Given the description of an element on the screen output the (x, y) to click on. 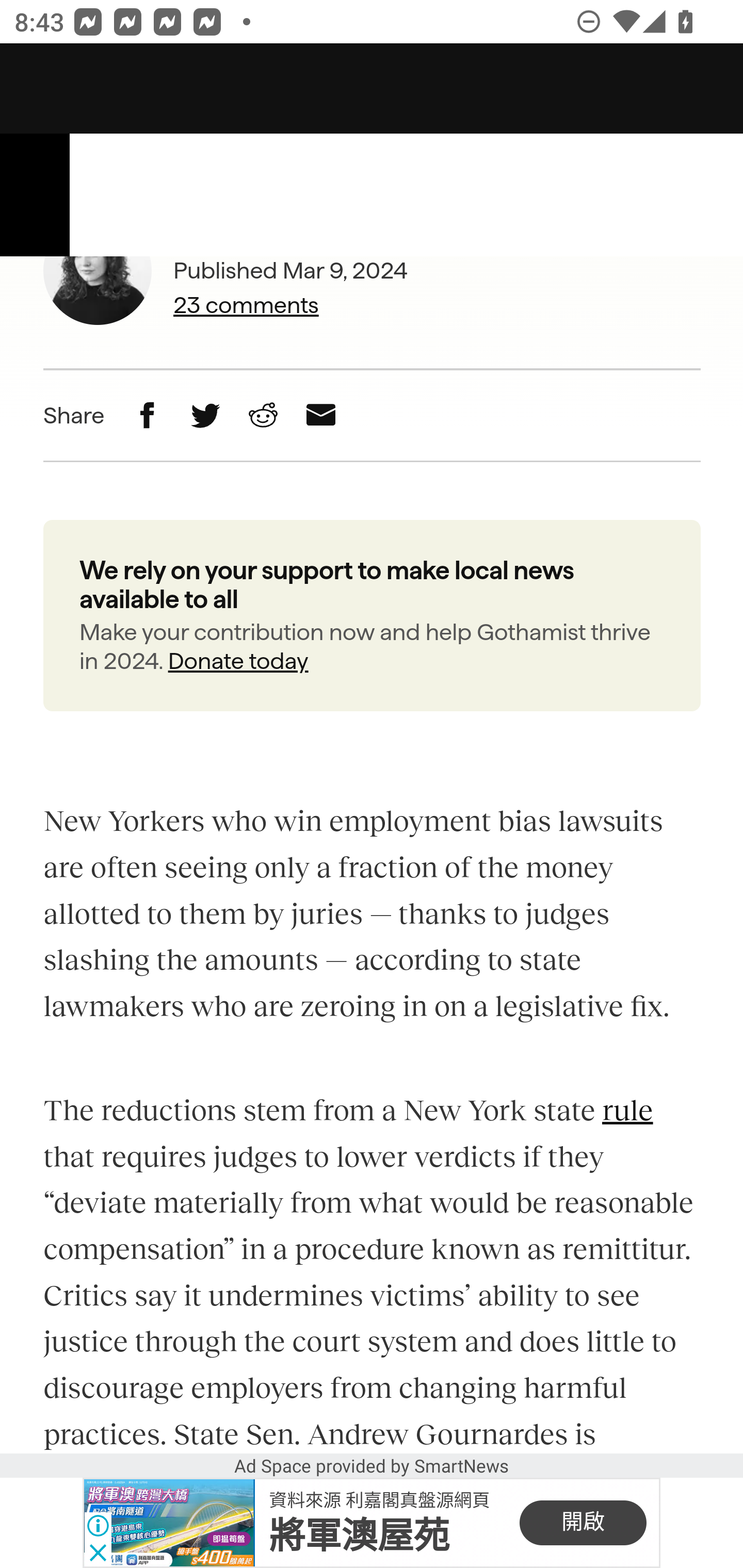
23 comments (291, 305)
Facebook (147, 416)
Twitter (205, 416)
Reddit (262, 416)
Email (320, 416)
Donate today (237, 662)
rule (627, 1110)
B29047822 (168, 1522)
資料來源 利嘉閣真盤源網頁 (379, 1499)
開啟 (582, 1522)
將軍澳屋苑 (359, 1535)
